Given the description of an element on the screen output the (x, y) to click on. 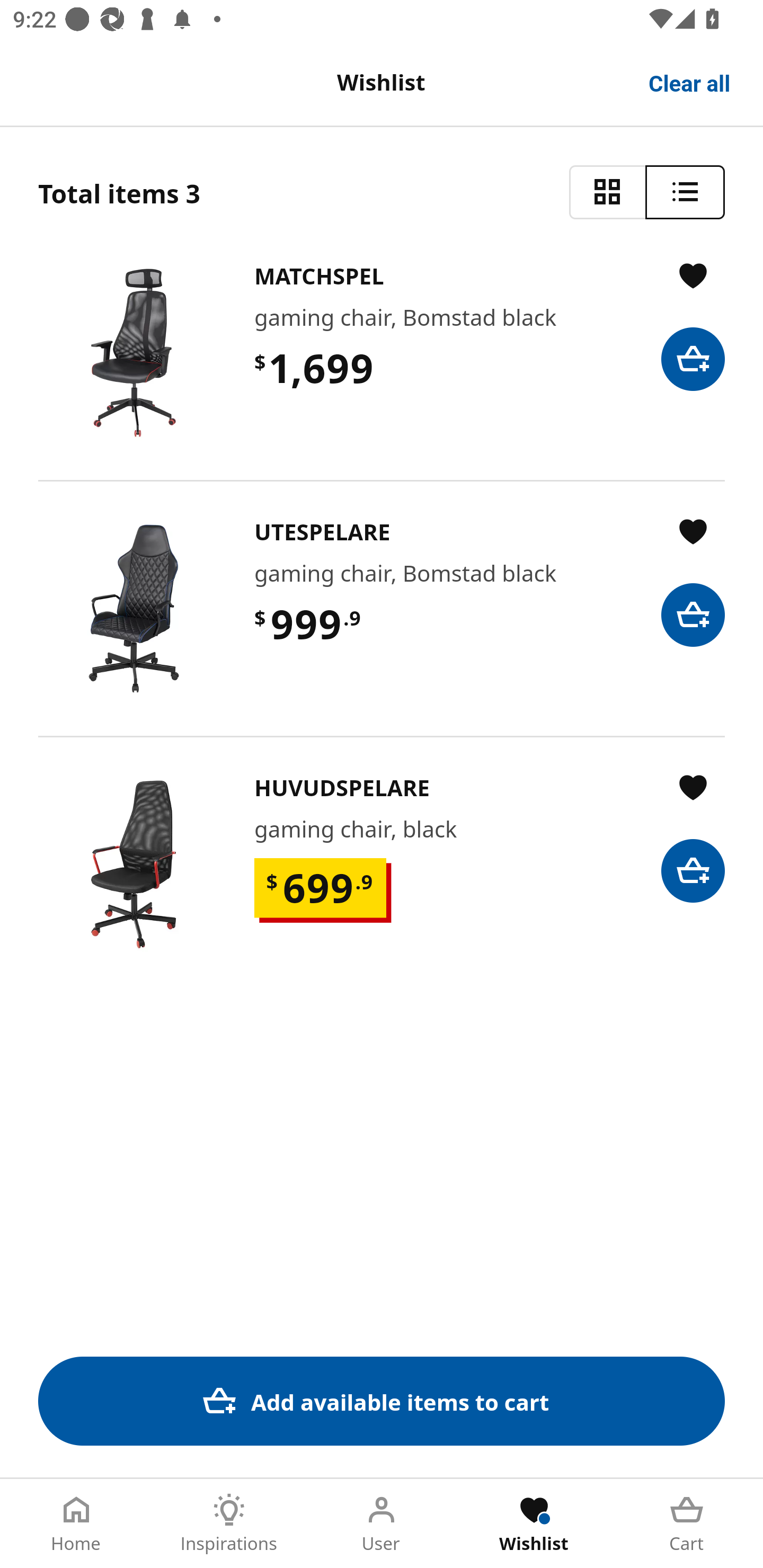
Clear all (689, 81)
Add available items to cart (381, 1400)
Home
Tab 1 of 5 (76, 1522)
Inspirations
Tab 2 of 5 (228, 1522)
User
Tab 3 of 5 (381, 1522)
Wishlist
Tab 4 of 5 (533, 1522)
Cart
Tab 5 of 5 (686, 1522)
